Given the description of an element on the screen output the (x, y) to click on. 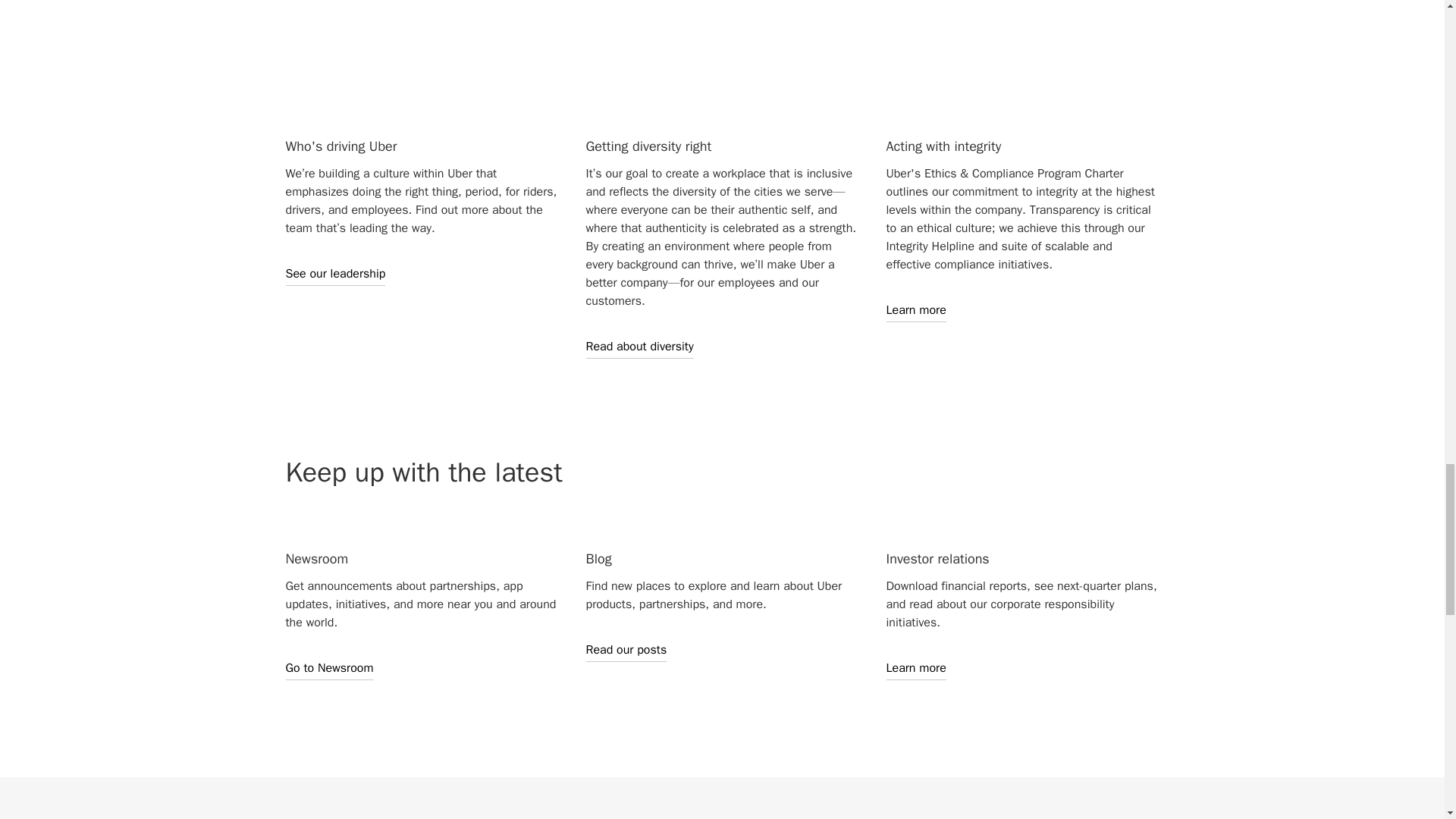
Learn more (914, 310)
Go to Newsroom (328, 668)
Read about diversity (639, 346)
Learn more (914, 668)
Read our posts (625, 649)
See our leadership (335, 273)
